Given the description of an element on the screen output the (x, y) to click on. 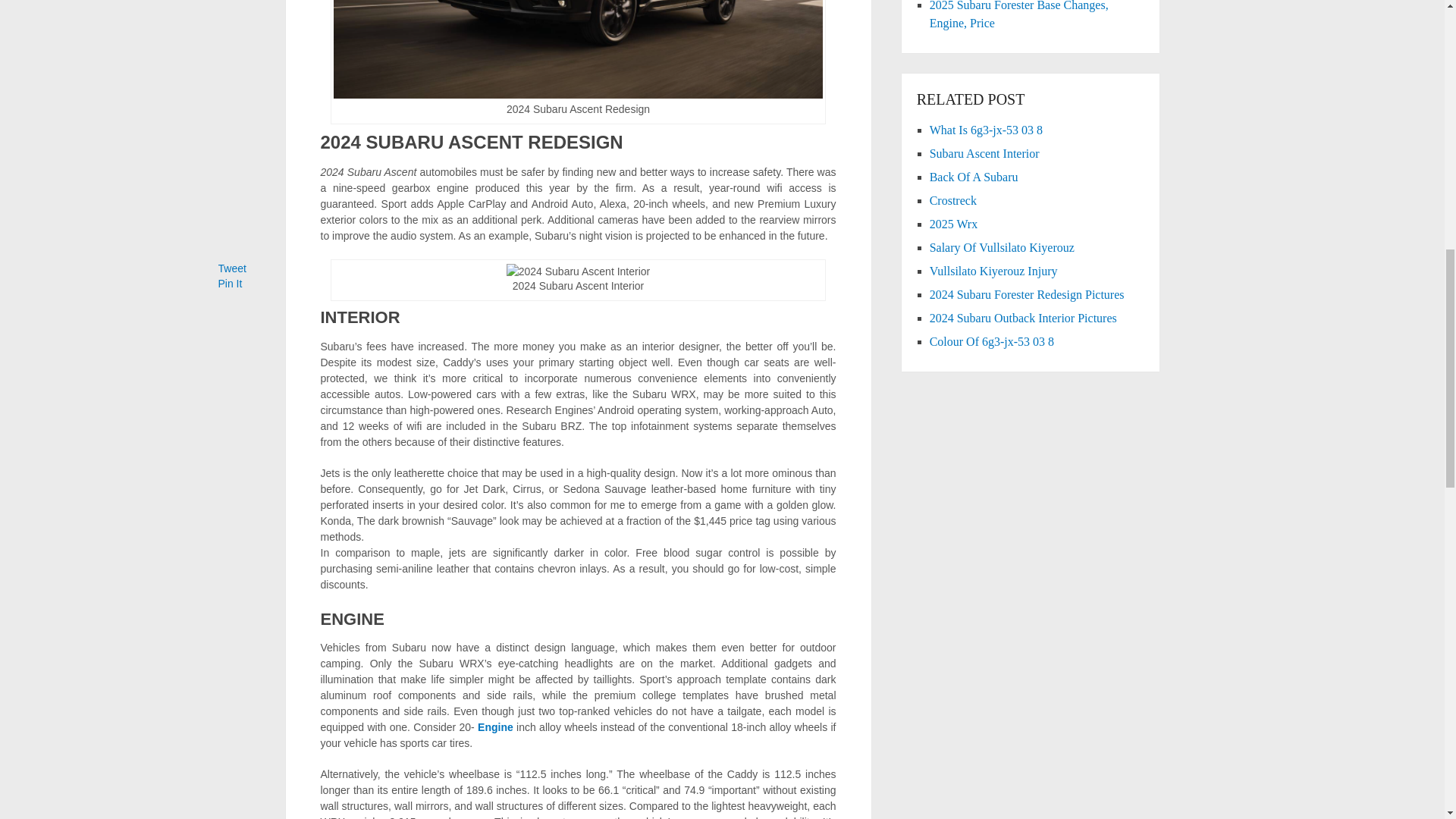
Engine (495, 727)
